Given the description of an element on the screen output the (x, y) to click on. 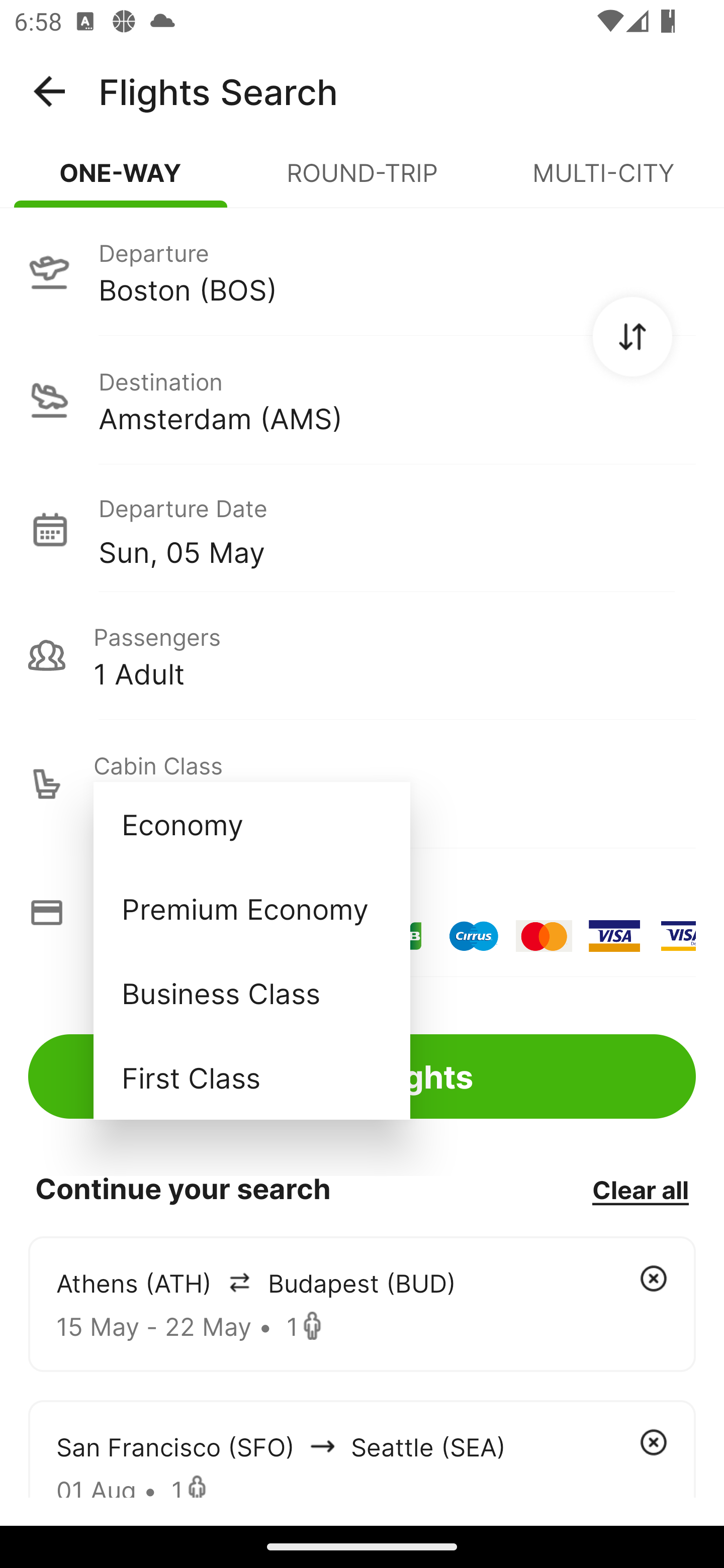
Economy (251, 824)
Premium Economy (251, 908)
Business Class (251, 992)
First Class (251, 1076)
